Given the description of an element on the screen output the (x, y) to click on. 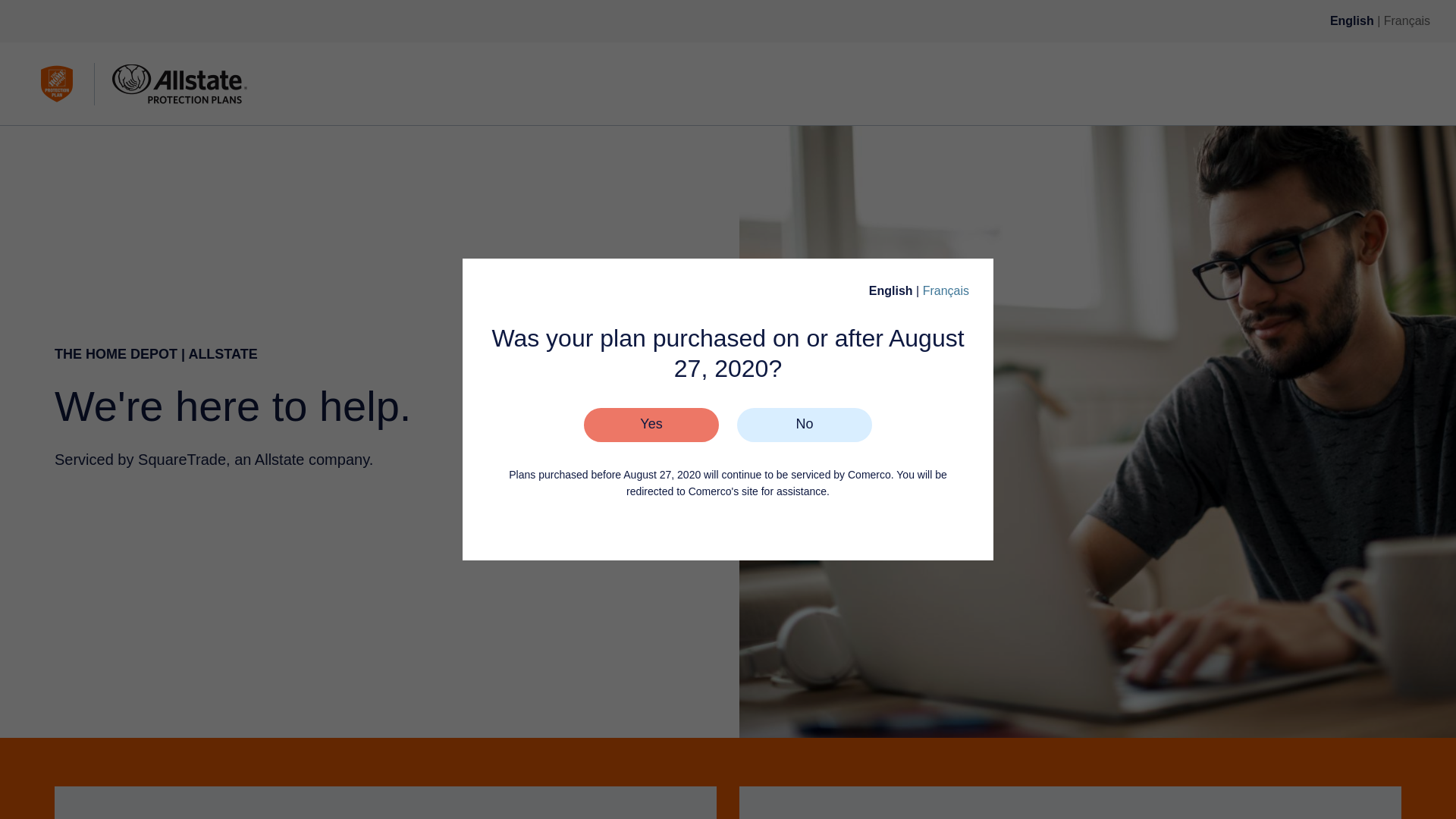
No (804, 424)
Yes (651, 424)
